Given the description of an element on the screen output the (x, y) to click on. 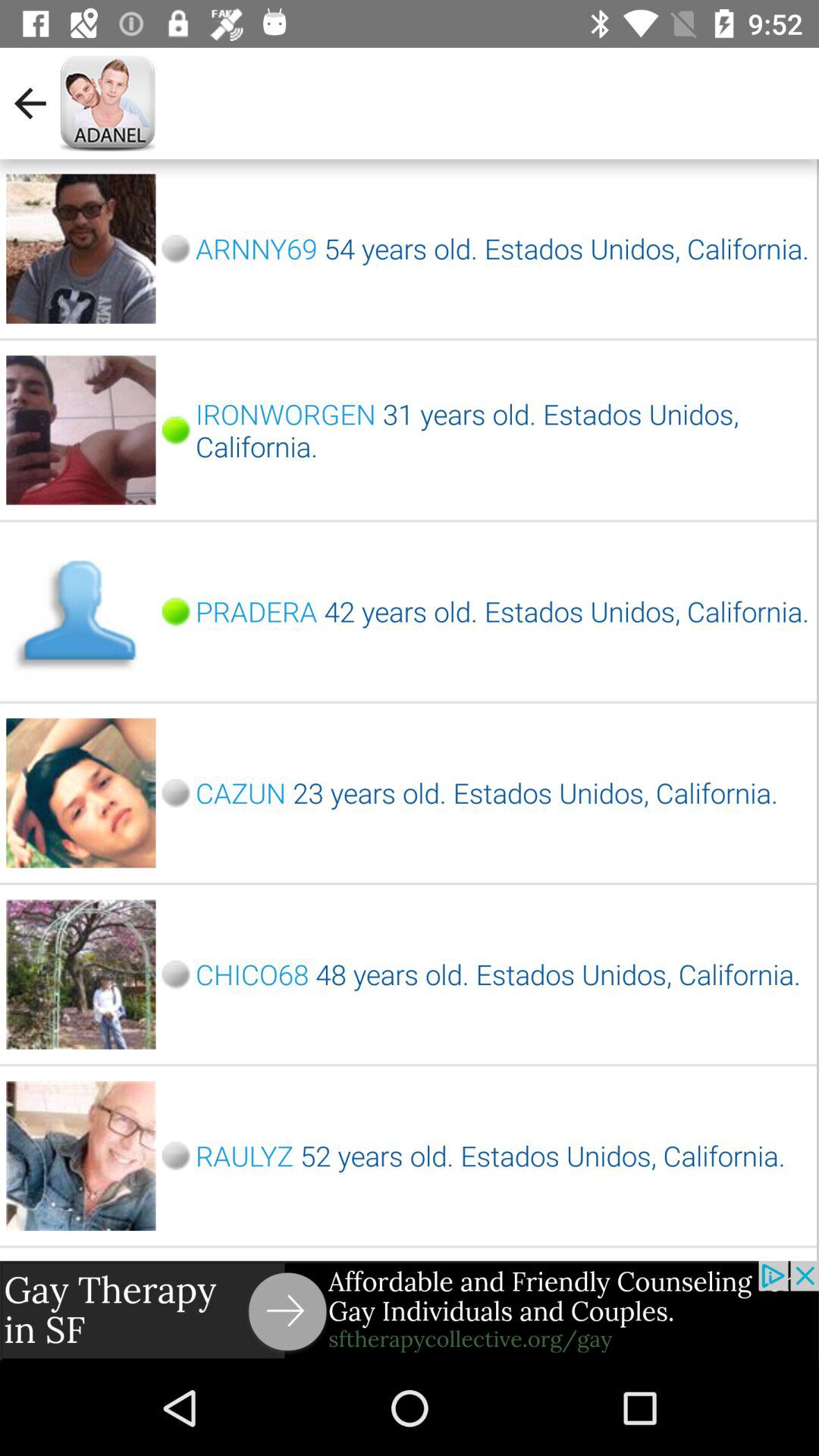
google advertisements (409, 1310)
